Given the description of an element on the screen output the (x, y) to click on. 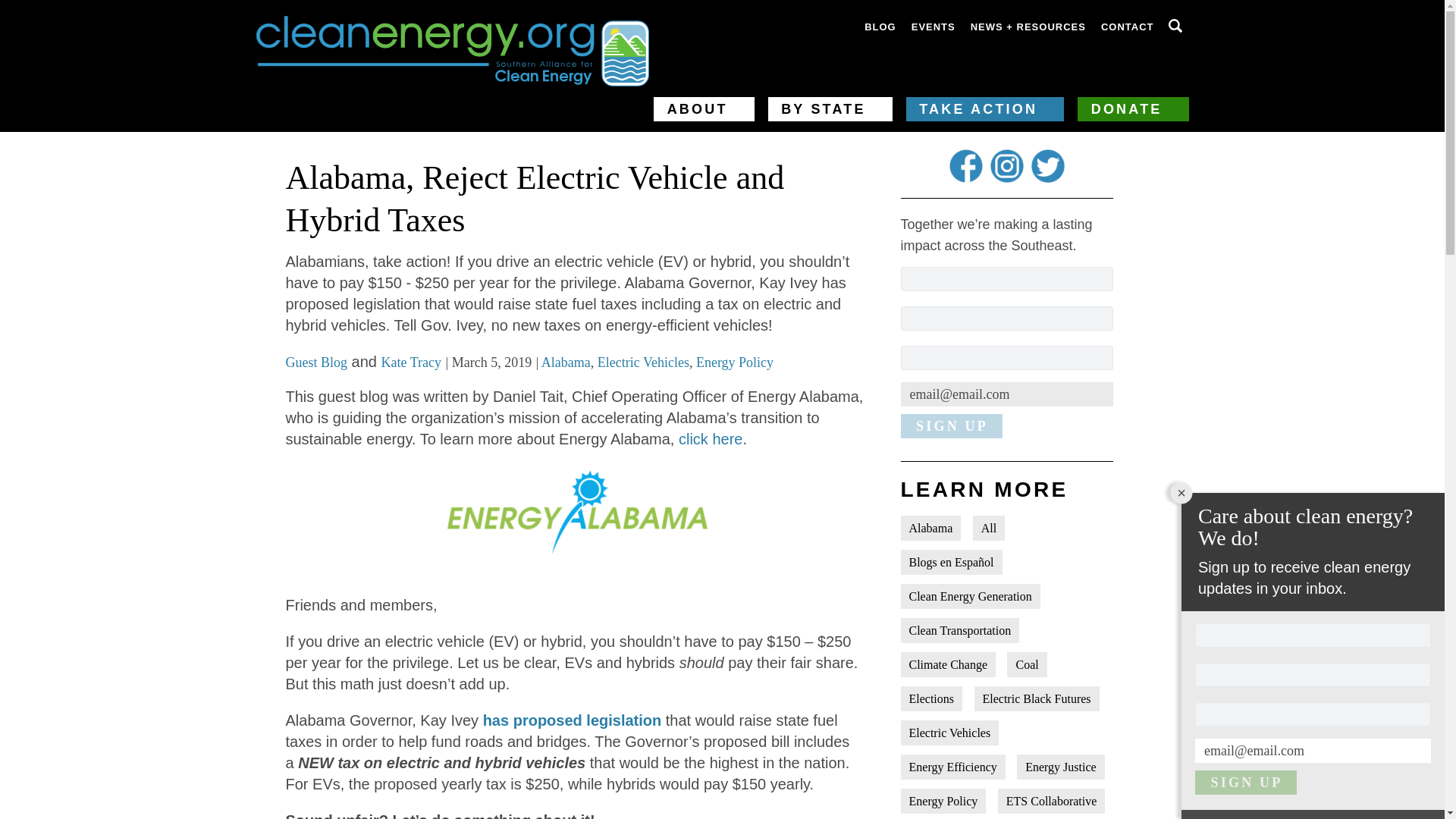
Sign Up (952, 426)
Postal Code (1313, 713)
ABOUT (703, 109)
Postal Code (1007, 357)
EVENTS (933, 26)
TAKE ACTION (984, 109)
CONTACT (1127, 26)
BY STATE (830, 109)
BLOG (880, 26)
DONATE (1132, 109)
Sign Up (1246, 782)
